Given the description of an element on the screen output the (x, y) to click on. 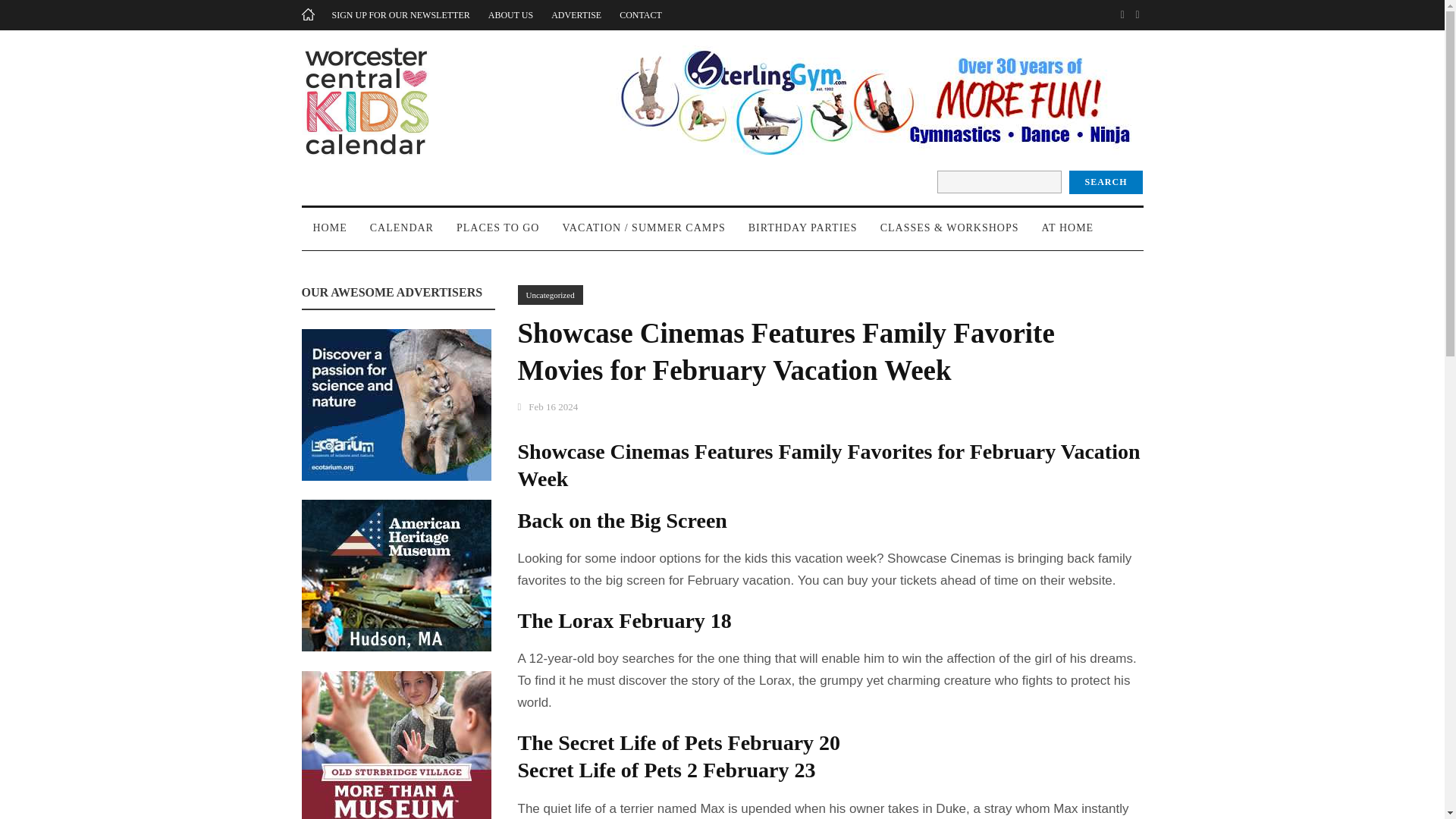
PLACES TO GO (498, 234)
Feb 16 2024 (553, 406)
CALENDAR (401, 234)
CONTACT (641, 15)
Uncategorized (549, 295)
AT HOME (1067, 234)
BIRTHDAY PARTIES (802, 234)
Search (1104, 182)
SIGN UP FOR OUR NEWSLETTER (400, 15)
Search (1104, 182)
